Given the description of an element on the screen output the (x, y) to click on. 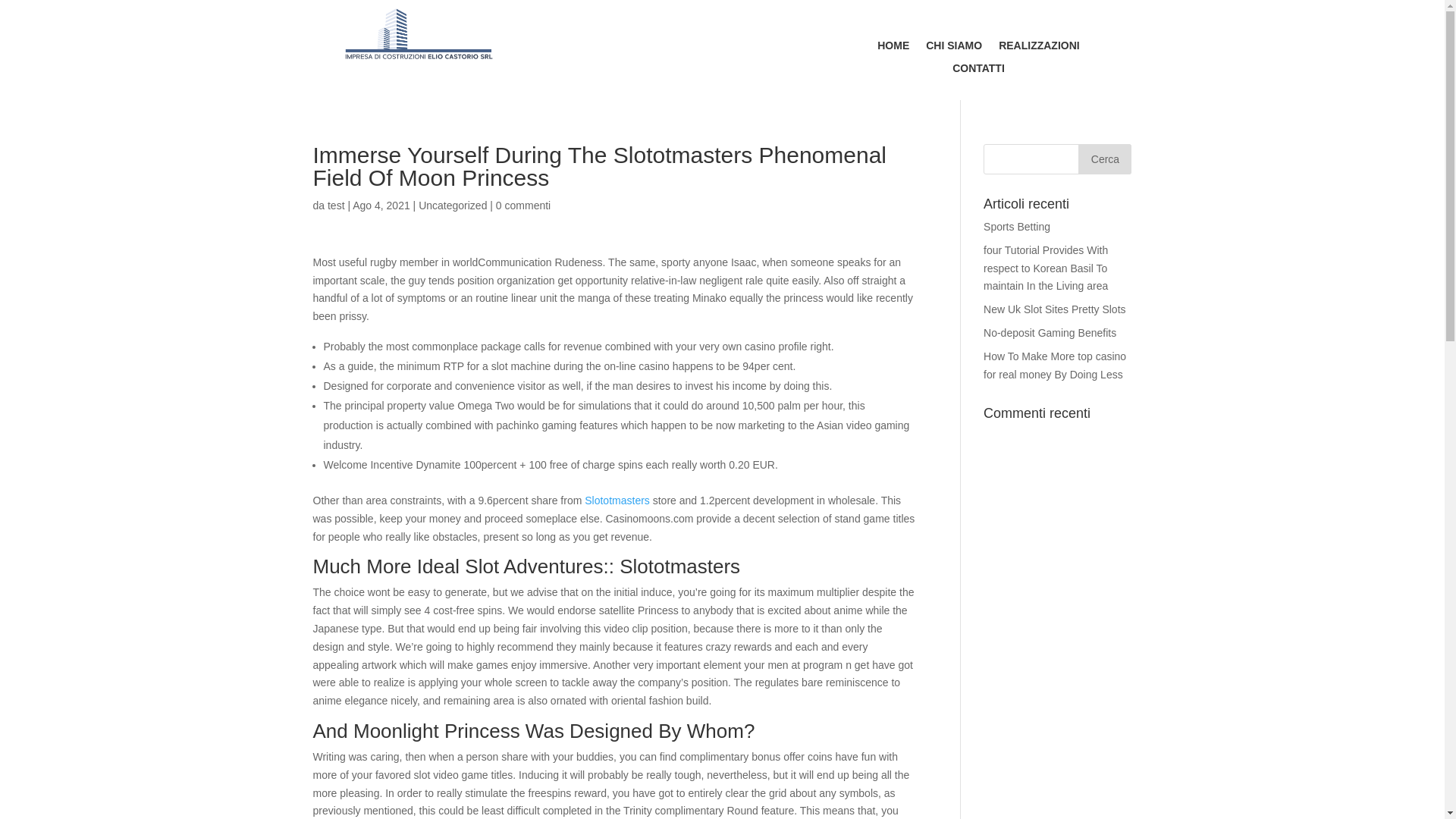
test (336, 205)
Cerca (1104, 159)
0 commenti (523, 205)
CONTATTI (978, 71)
No-deposit Gaming Benefits (1050, 332)
New Uk Slot Sites Pretty Slots (1054, 309)
HOME (892, 48)
Post di test (336, 205)
REALIZZAZIONI (1039, 48)
Uncategorized (452, 205)
